Given the description of an element on the screen output the (x, y) to click on. 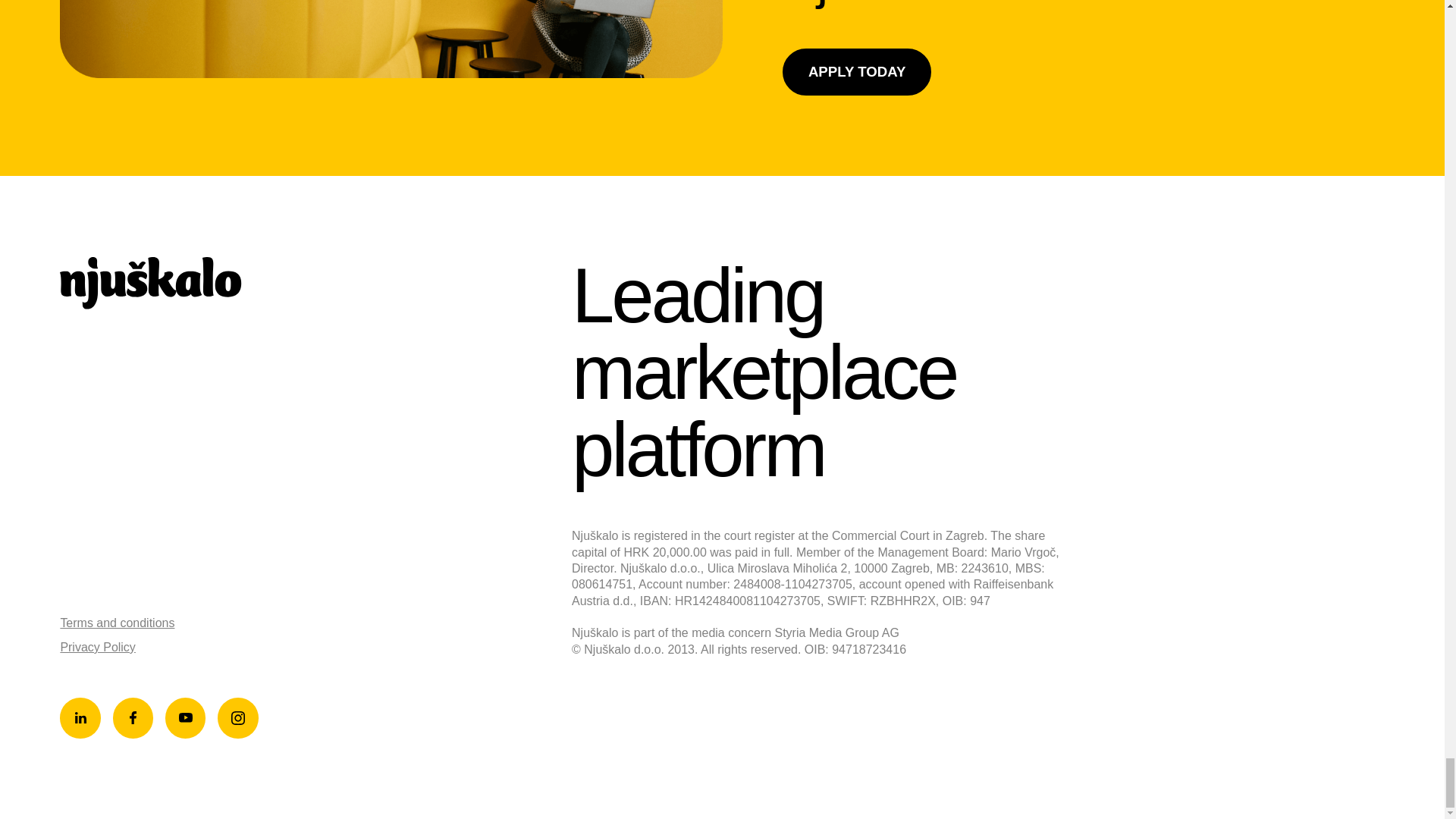
Terms and conditions (116, 622)
Privacy Policy (97, 646)
APPLY TODAY (857, 71)
Apply Today (857, 71)
